Given the description of an element on the screen output the (x, y) to click on. 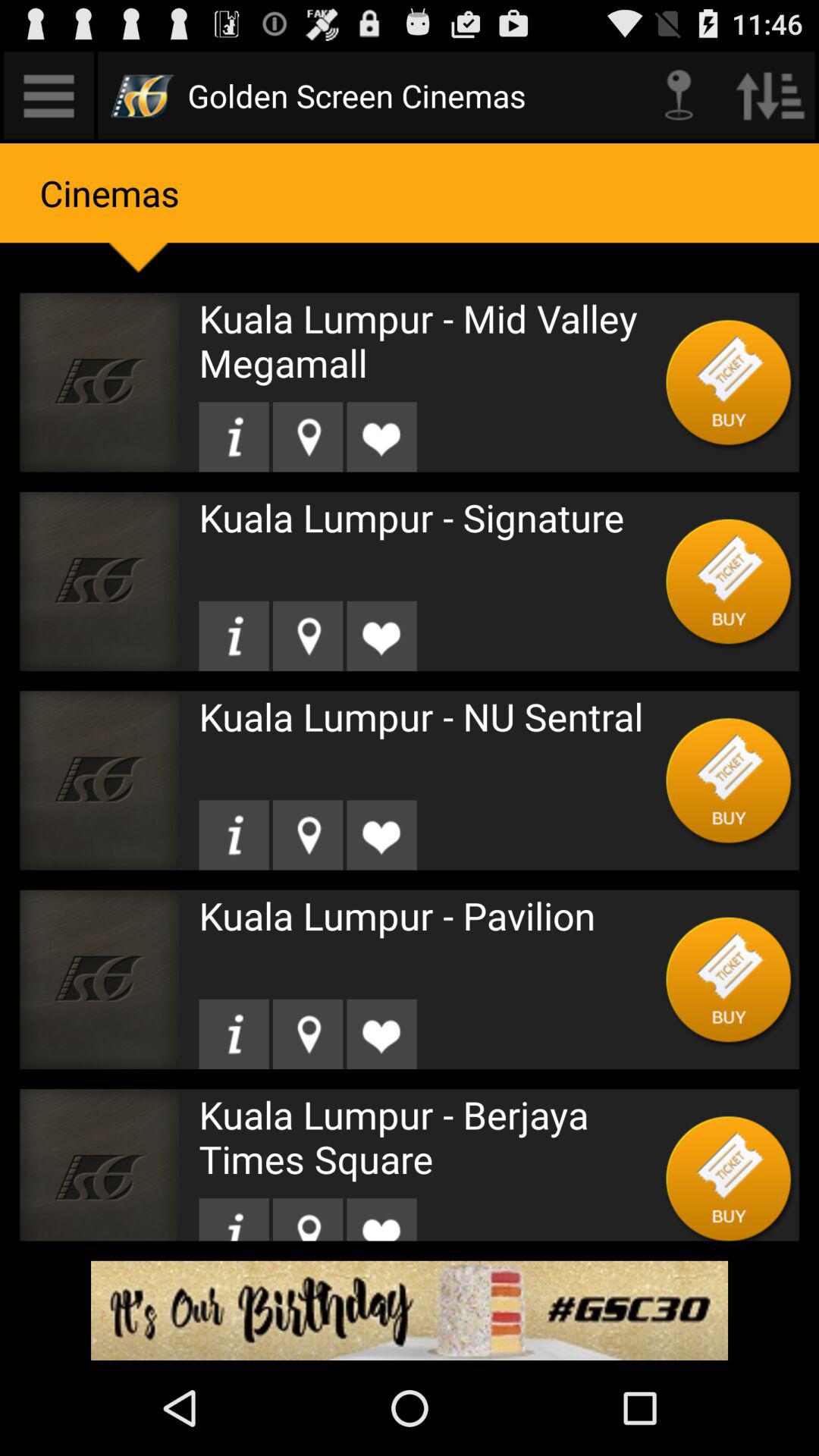
go to like button (381, 835)
